Given the description of an element on the screen output the (x, y) to click on. 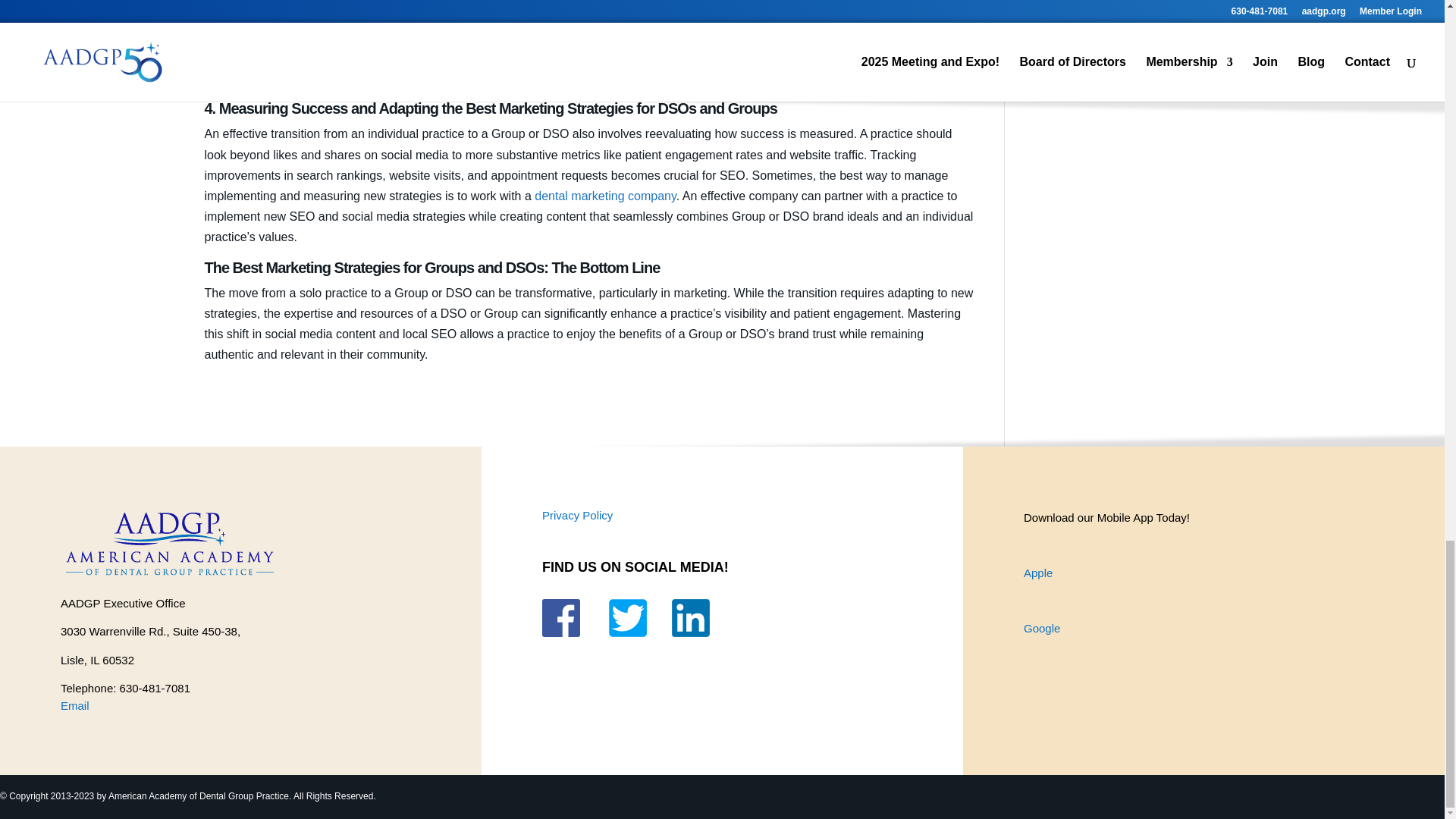
Dental SEO for DSOs (409, 16)
dental SEO tips (432, 78)
dental marketing company (604, 195)
the AADGP (540, 1)
